Given the description of an element on the screen output the (x, y) to click on. 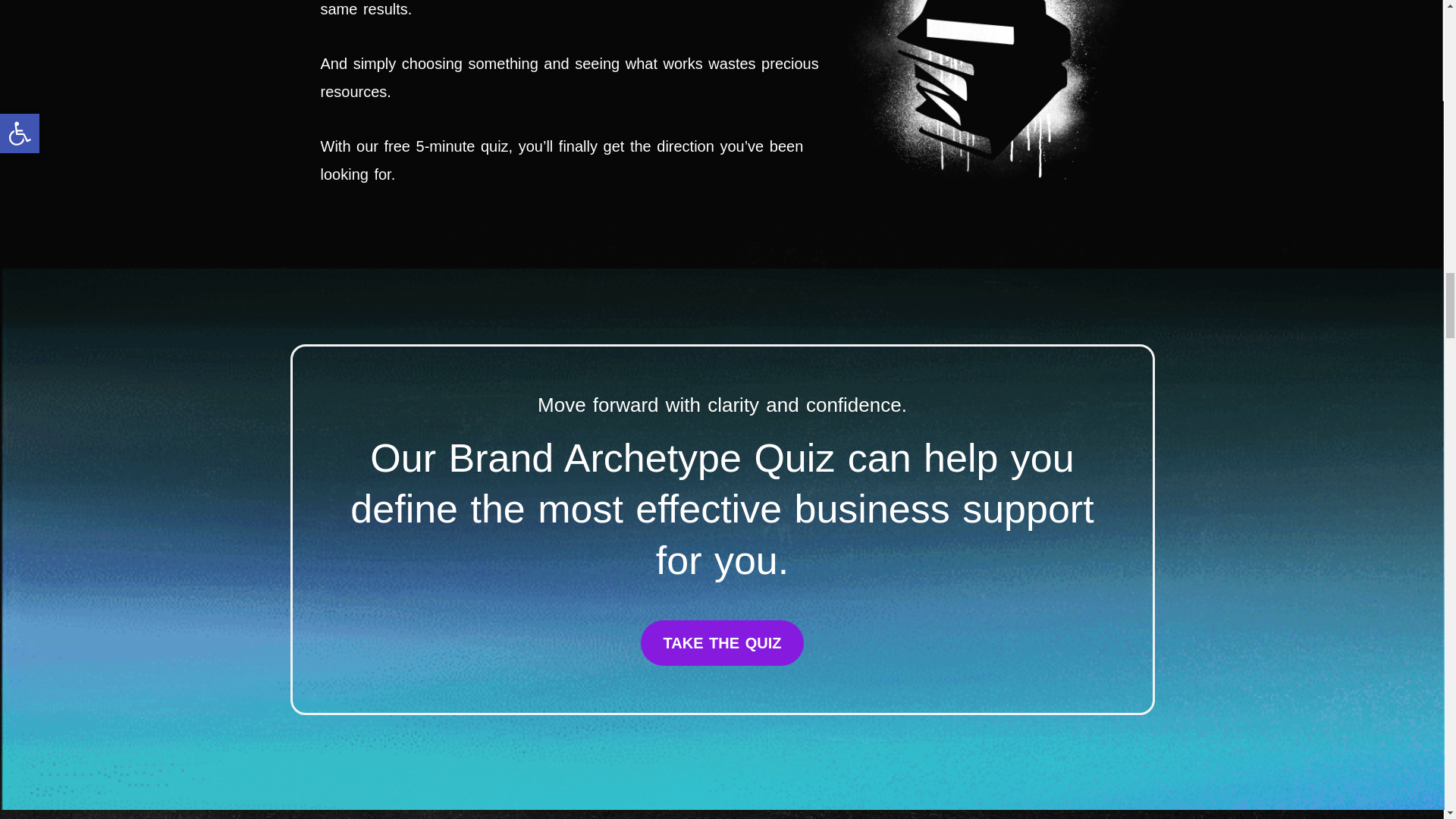
TAKE THE QUIZ (722, 642)
